Given the description of an element on the screen output the (x, y) to click on. 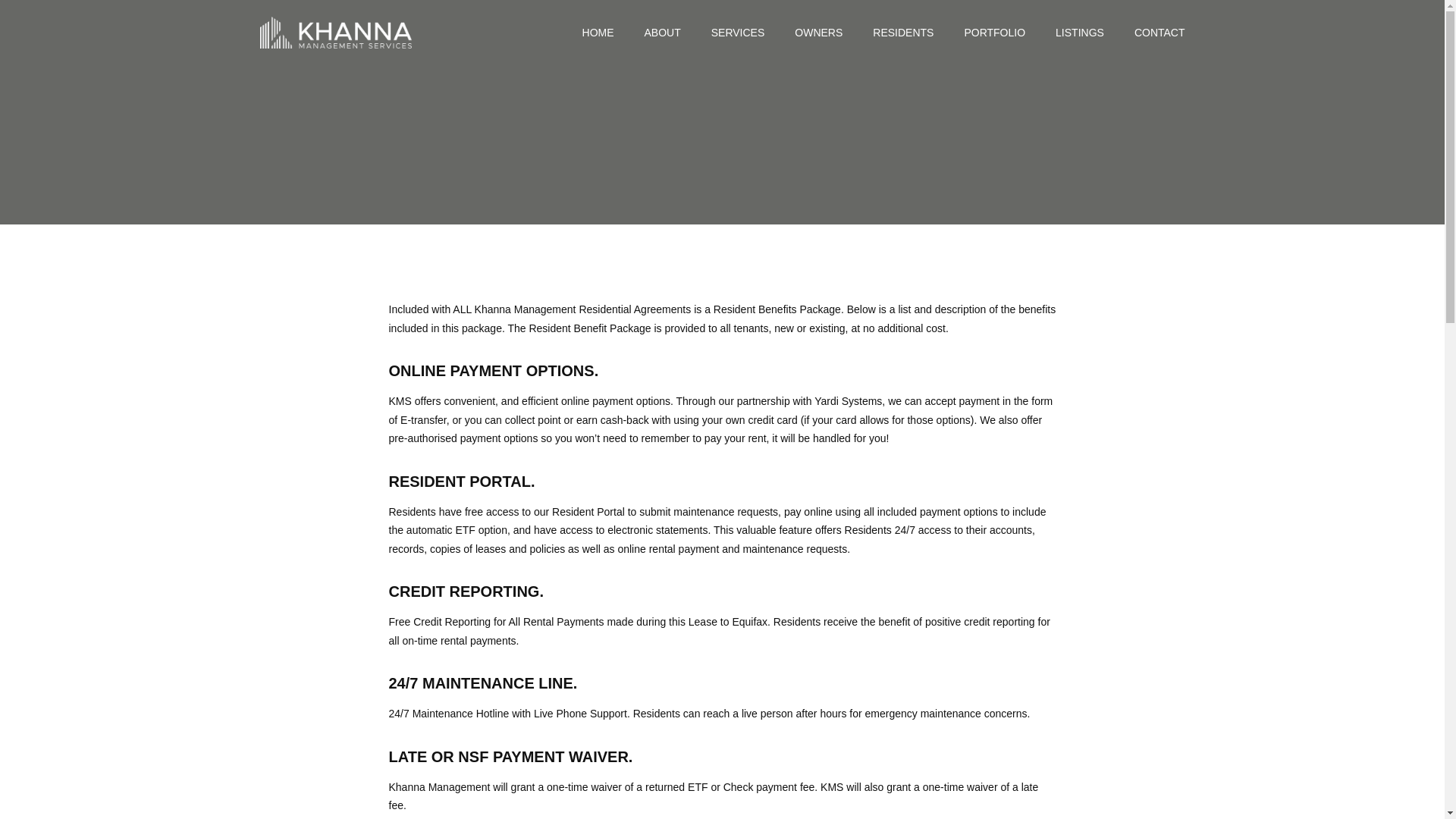
PORTFOLIO (994, 32)
OWNERS (818, 32)
RESIDENTS (902, 32)
HOME (598, 32)
SERVICES (738, 32)
LISTINGS (1079, 32)
ABOUT (663, 32)
CONTACT (1159, 32)
